Given the description of an element on the screen output the (x, y) to click on. 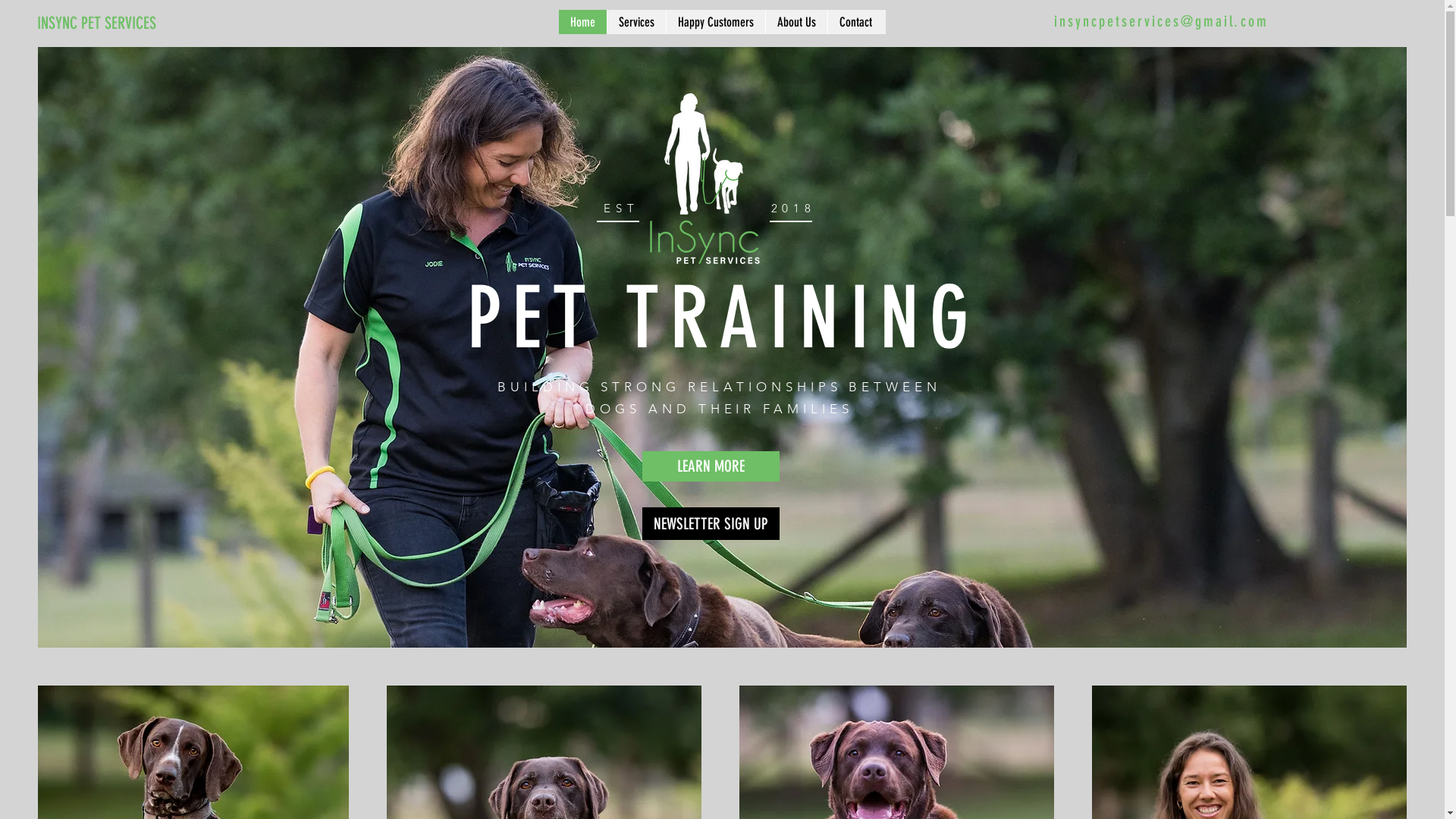
About Us Element type: text (796, 21)
INSYNC PET SERVICES Element type: text (131, 23)
insyncpetservices@gmail.com Element type: text (1161, 21)
NEWSLETTER SIGN UP Element type: text (709, 523)
Home Element type: text (582, 21)
Contact Element type: text (855, 21)
Services Element type: text (635, 21)
LEARN MORE Element type: text (709, 466)
Happy Customers Element type: text (715, 21)
